Given the description of an element on the screen output the (x, y) to click on. 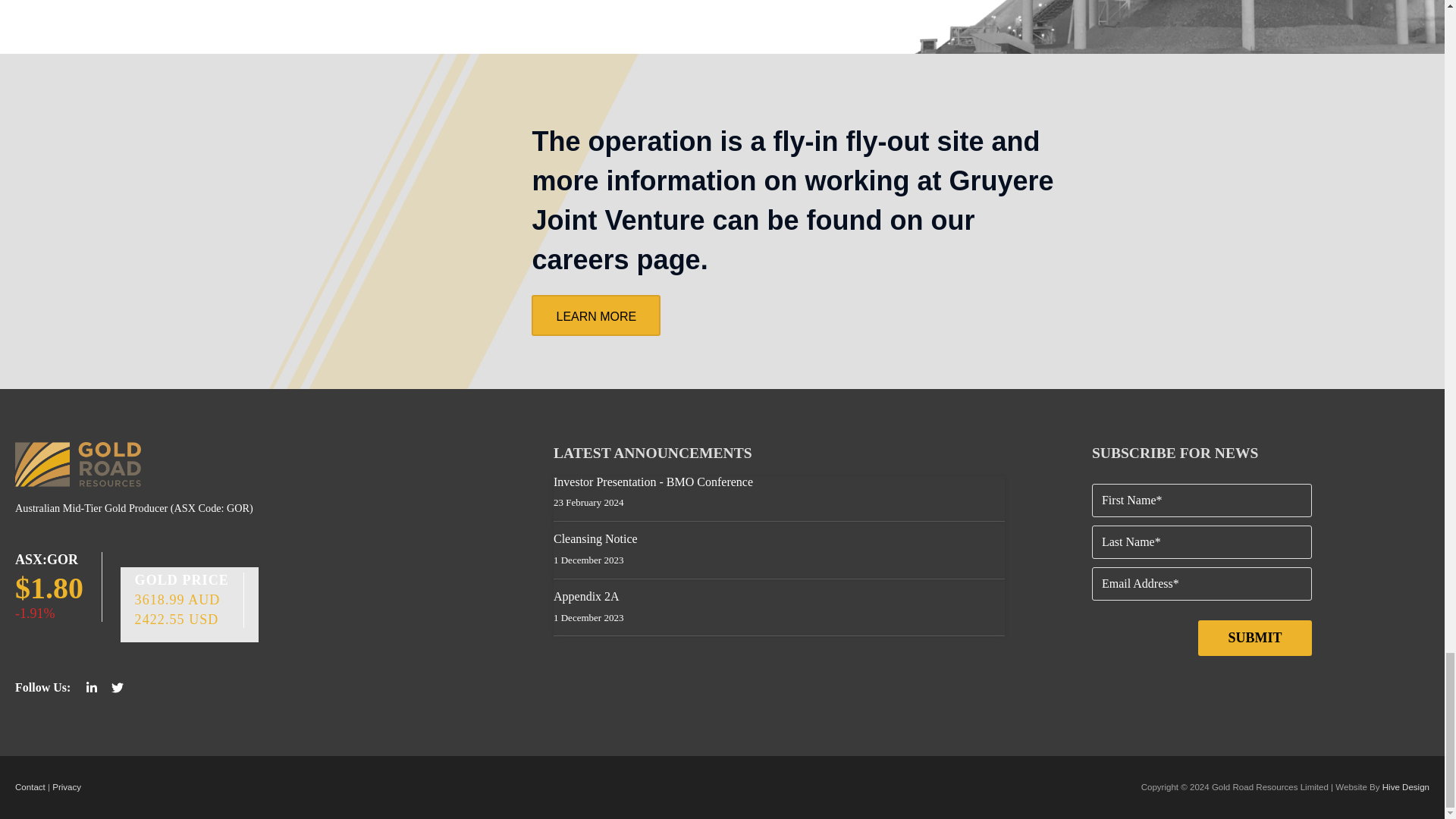
Submit (1254, 637)
